Given the description of an element on the screen output the (x, y) to click on. 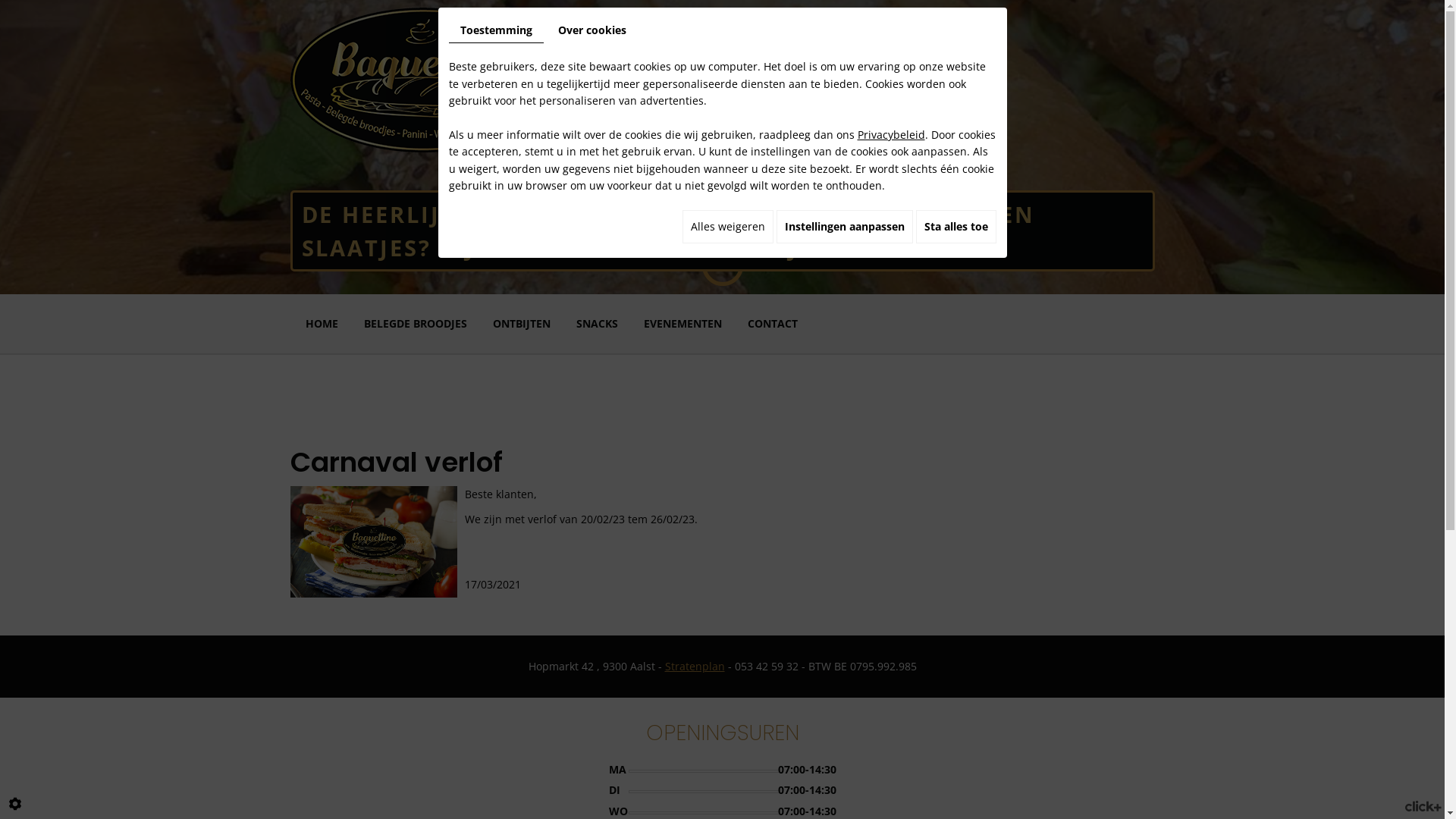
Instellingen aanpassen Element type: text (844, 226)
Baguettino Aalst Element type: hover (422, 78)
SNACKS Element type: text (596, 323)
HOME Element type: text (321, 323)
EVENEMENTEN Element type: text (681, 323)
CONTACT Element type: text (772, 323)
Cookie-instelling bewerken Element type: text (14, 803)
Toestemming Element type: text (495, 30)
ONTBIJTEN Element type: text (521, 323)
Privacybeleid Element type: text (890, 134)
Alles weigeren Element type: text (727, 226)
Over cookies Element type: text (591, 30)
Sta alles toe Element type: text (956, 226)
BELEGDE BROODJES Element type: text (415, 323)
